Given the description of an element on the screen output the (x, y) to click on. 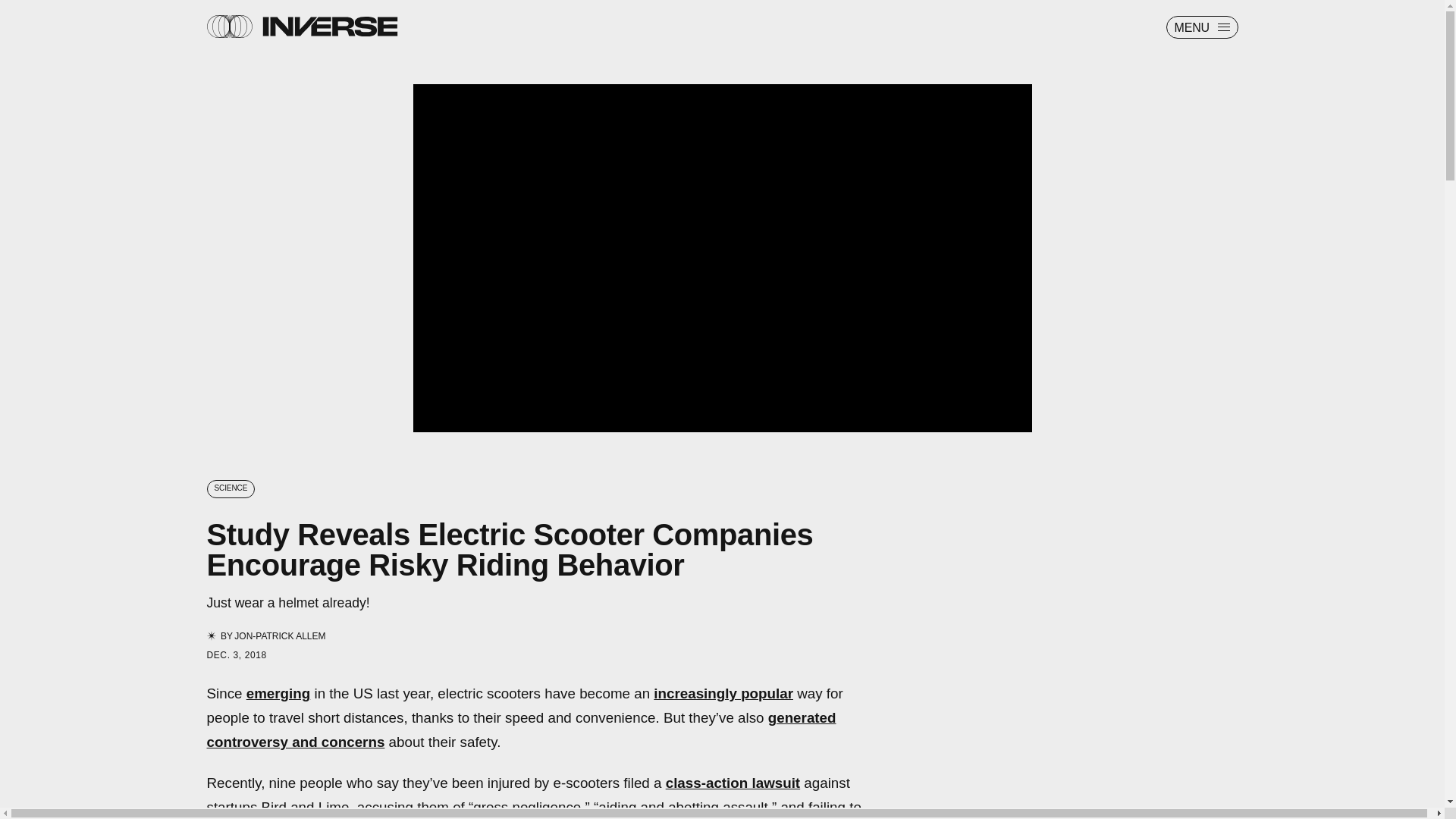
Inverse (328, 26)
generated controversy and concerns (520, 730)
emerging (278, 693)
increasingly popular (723, 693)
class-action lawsuit (732, 782)
